Given the description of an element on the screen output the (x, y) to click on. 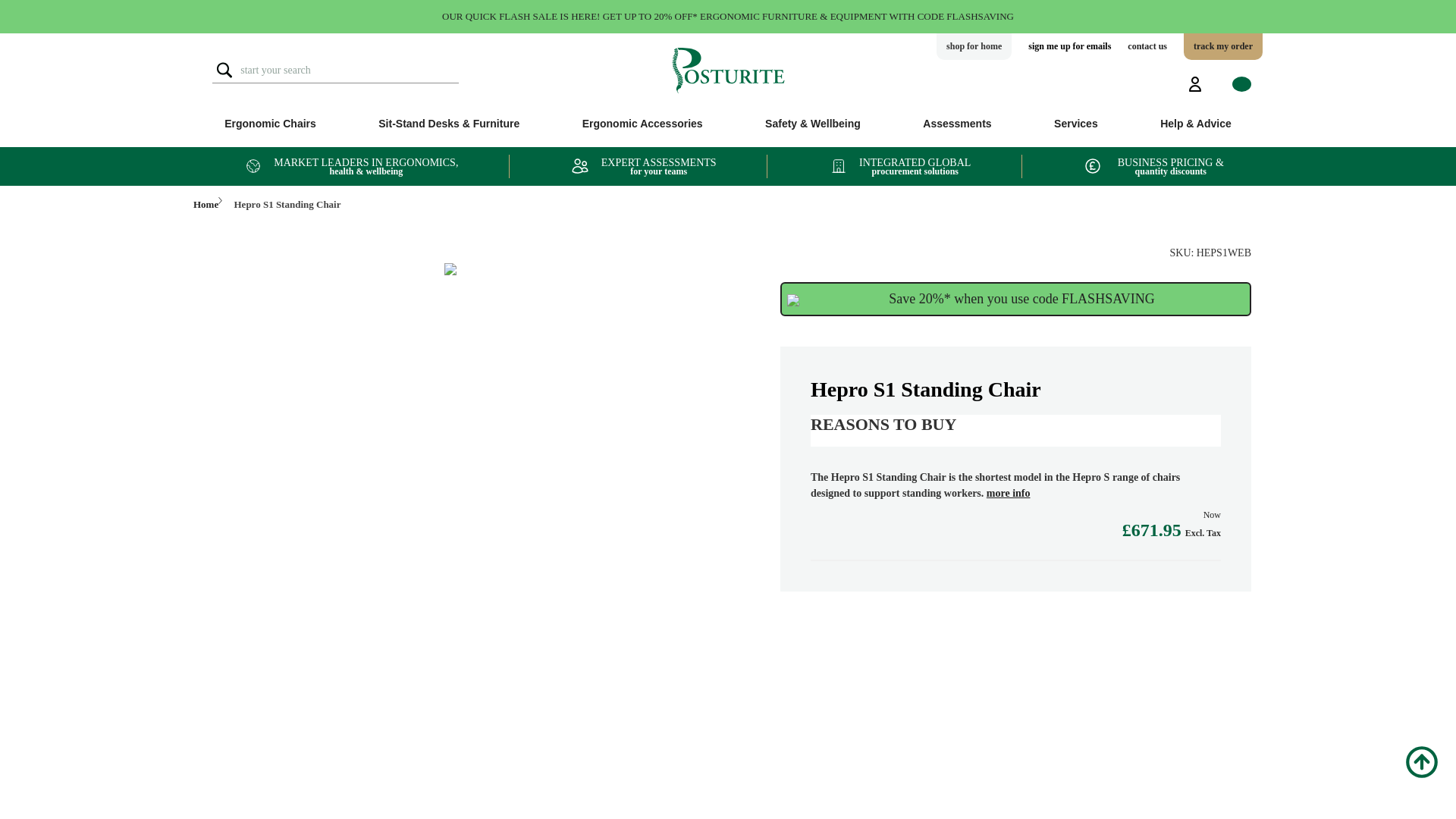
Hepro S1 Standing Chair (450, 268)
contact us (1146, 46)
Welcome to healthier working with Posturite (727, 70)
Go to Home Page (199, 203)
track my order (1222, 46)
Search (223, 69)
Ergonomic Chairs (270, 122)
